Given the description of an element on the screen output the (x, y) to click on. 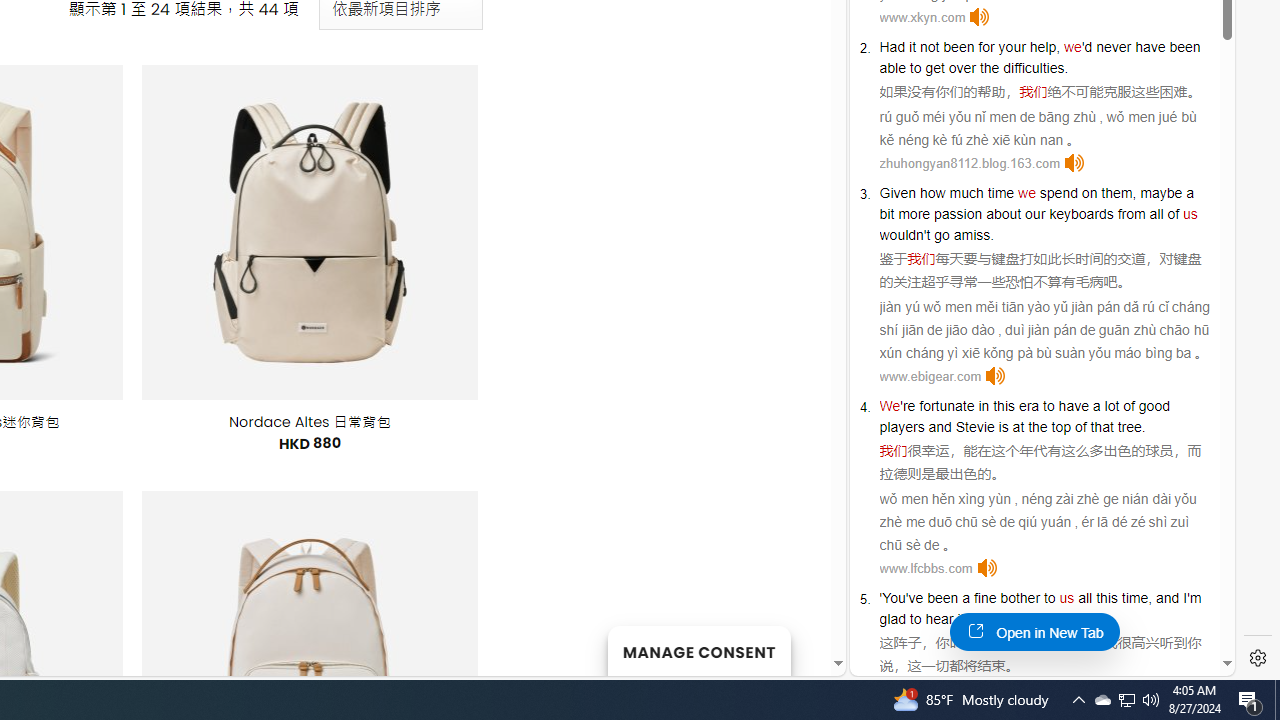
Given (897, 192)
zhuhongyan8112.blog.163.com (969, 163)
keyboards (1081, 213)
have (1073, 405)
